Given the description of an element on the screen output the (x, y) to click on. 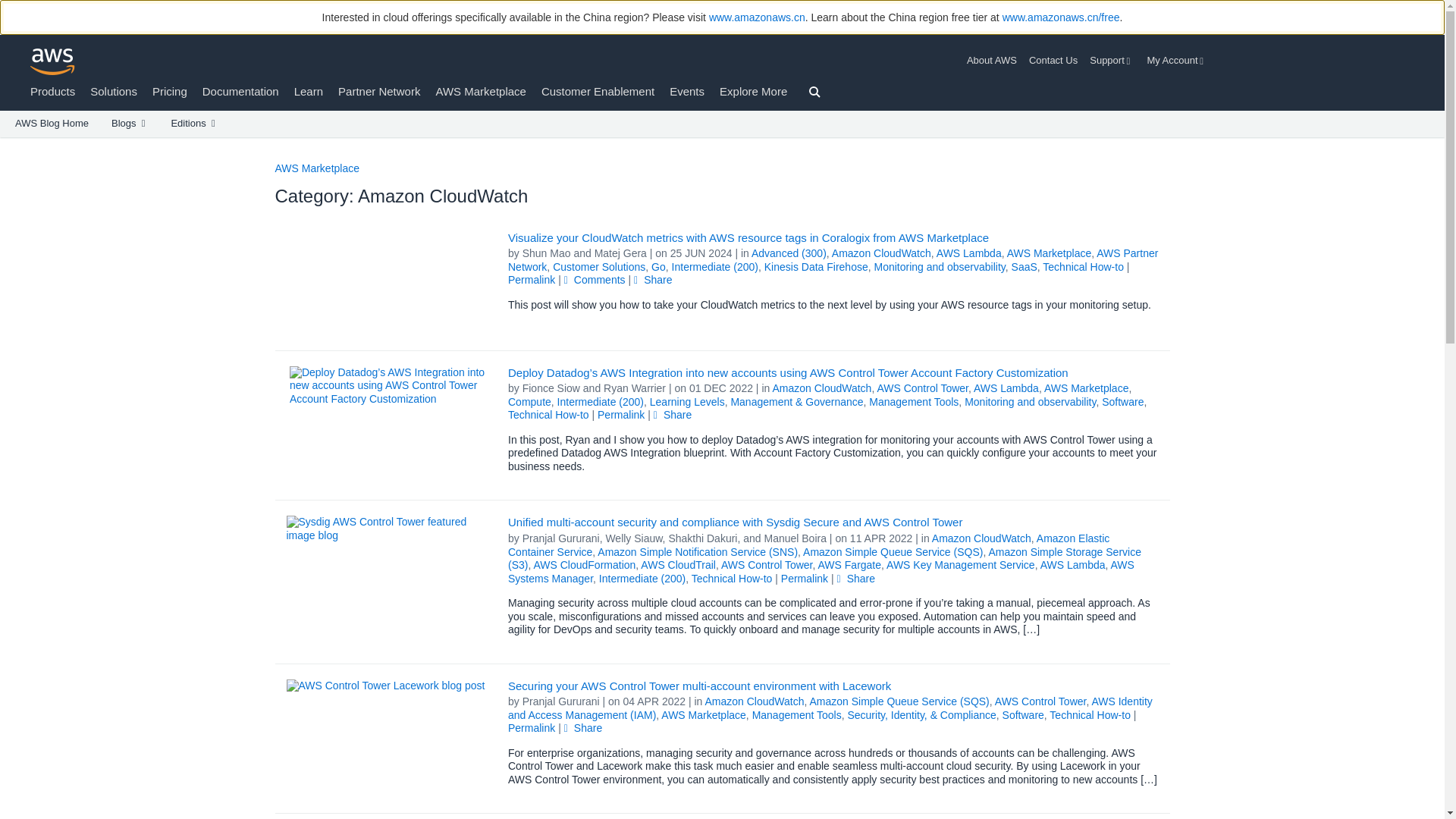
www.amazonaws.cn (757, 17)
Products (52, 91)
View all posts in Kinesis Data Firehose (815, 266)
About AWS (994, 60)
View all posts in Monitoring and observability (938, 266)
Support  (1111, 60)
Learn (308, 91)
View all posts in Technical How-to (1083, 266)
View all posts in Amazon CloudWatch (881, 253)
Solutions (113, 91)
Pricing (169, 91)
AWS Marketplace (480, 91)
View all posts in SaaS (1023, 266)
Partner Network (378, 91)
View all posts in AWS Marketplace (1049, 253)
